Given the description of an element on the screen output the (x, y) to click on. 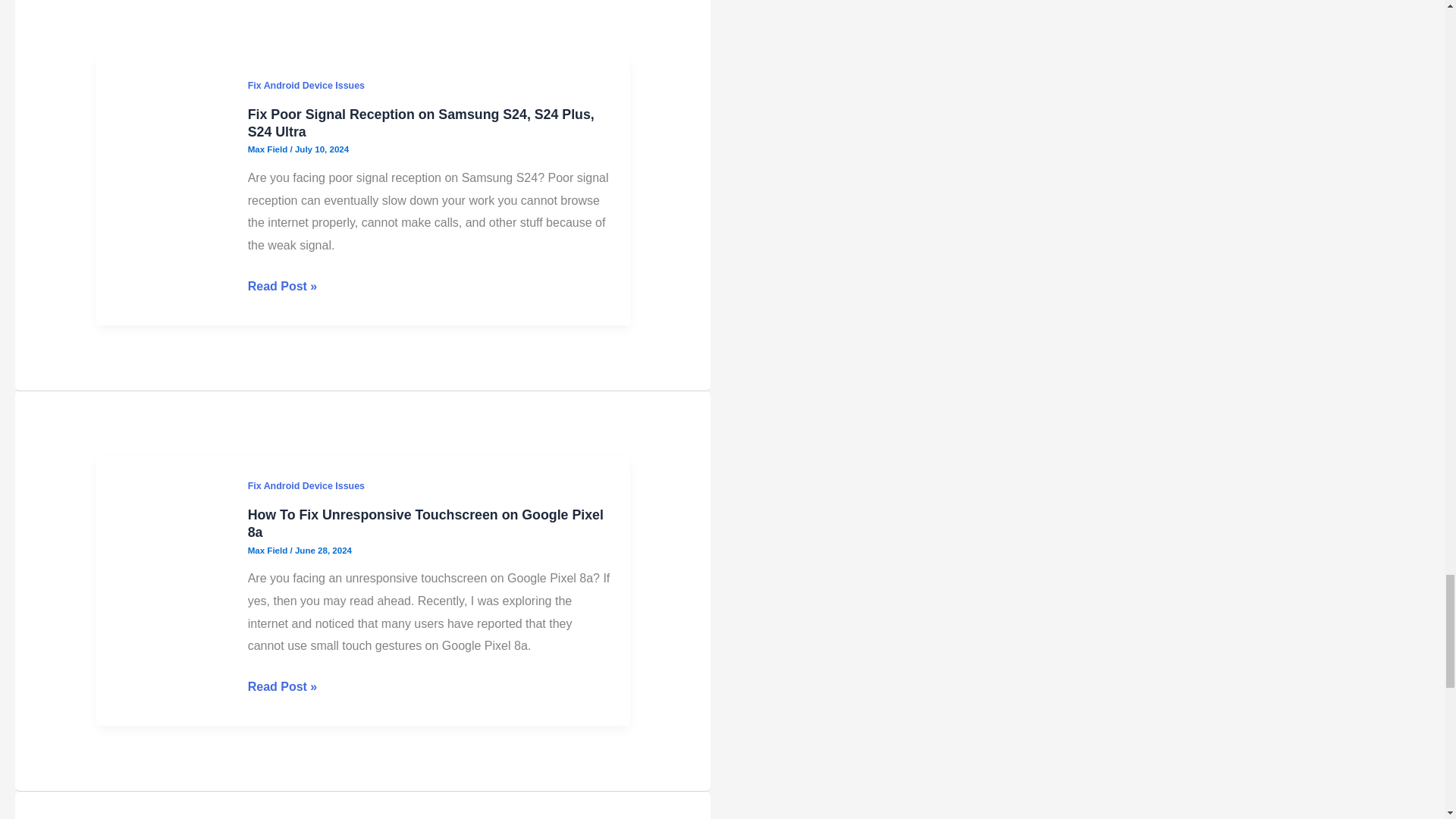
View all posts by Max Field (268, 550)
View all posts by Max Field (268, 148)
